Given the description of an element on the screen output the (x, y) to click on. 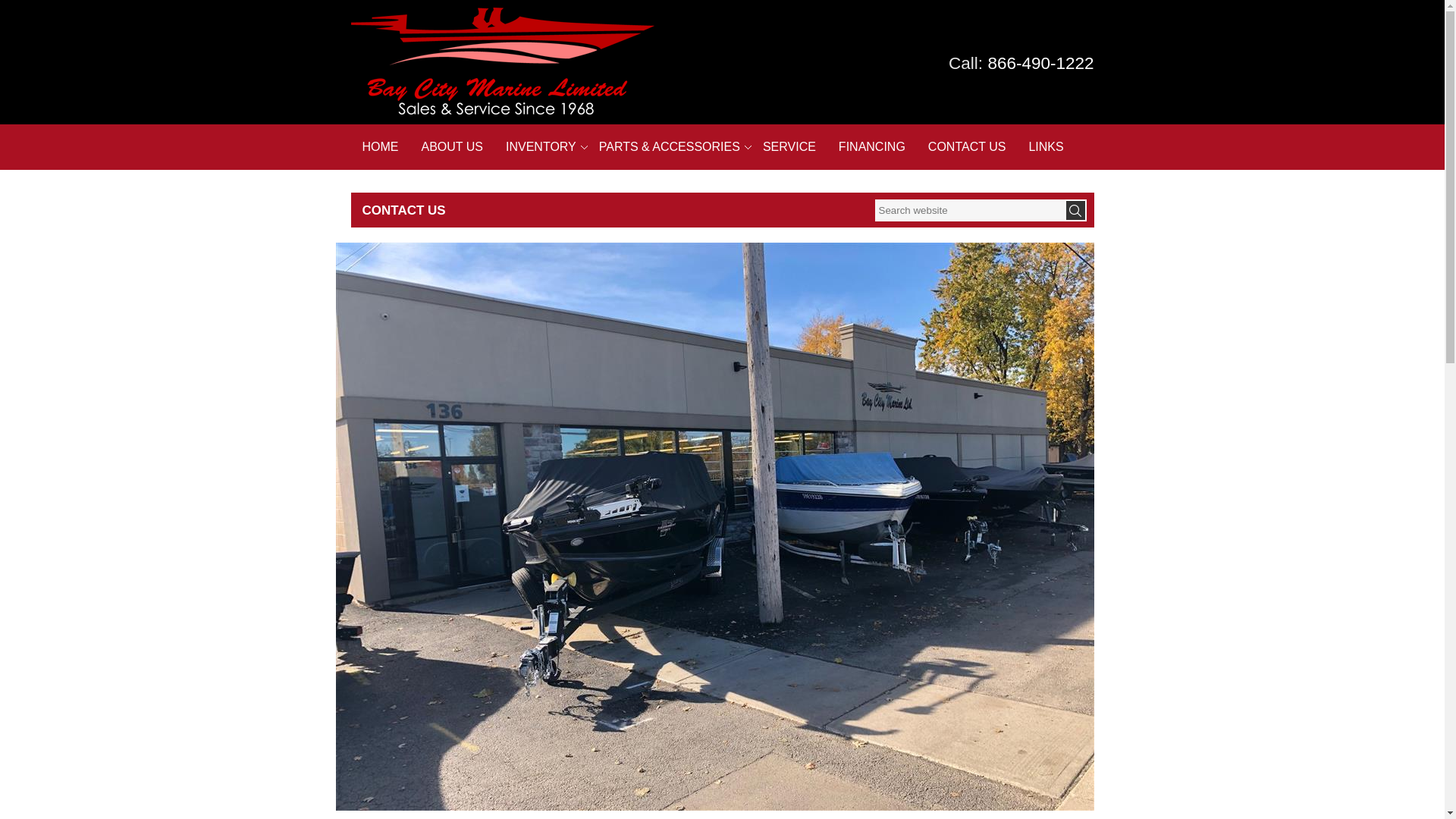
SERVICE Element type: text (789, 146)
FINANCING Element type: text (871, 146)
INVENTORY Element type: text (540, 146)
HOME Element type: text (379, 146)
866-490-1222 Element type: text (1040, 62)
ABOUT US Element type: text (451, 146)
PARTS & ACCESSORIES Element type: text (669, 146)
Search Element type: text (1075, 210)
CONTACT US Element type: text (966, 146)
LINKS Element type: text (1045, 146)
